Given the description of an element on the screen output the (x, y) to click on. 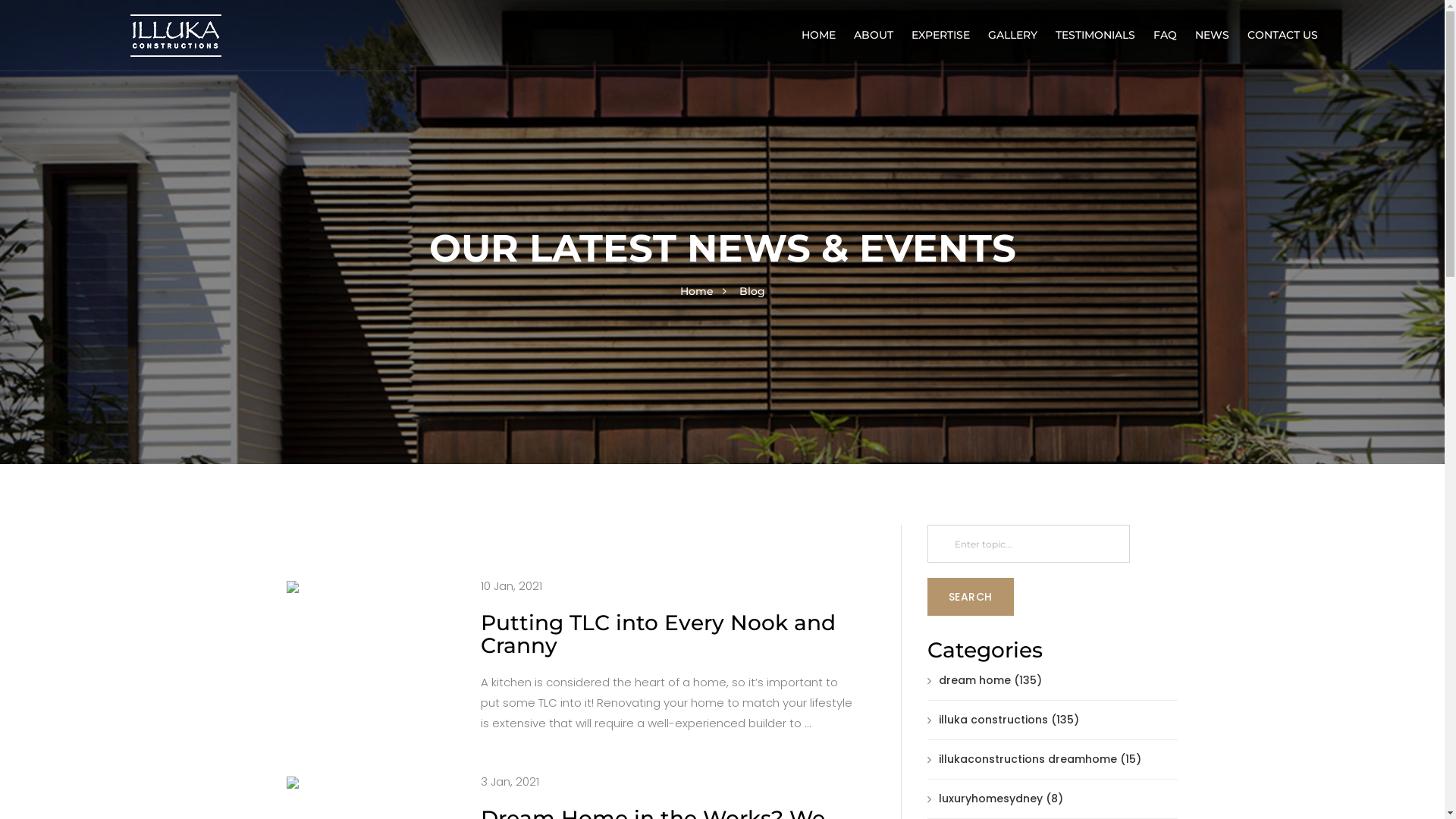
luxuryhomesydney (8) Element type: text (994, 798)
illuka constructions (135) Element type: text (1002, 719)
NEWS Element type: text (1212, 34)
illukaconstructions dreamhome (15) Element type: text (1033, 758)
ABOUT Element type: text (873, 34)
CONTACT US Element type: text (1282, 34)
Home Element type: text (695, 291)
EXPERTISE Element type: text (940, 34)
HOME Element type: text (818, 34)
FAQ Element type: text (1164, 34)
dream home (135) Element type: text (983, 679)
GALLERY Element type: text (1012, 34)
Search Element type: text (969, 596)
TESTIMONIALS Element type: text (1095, 34)
